Given the description of an element on the screen output the (x, y) to click on. 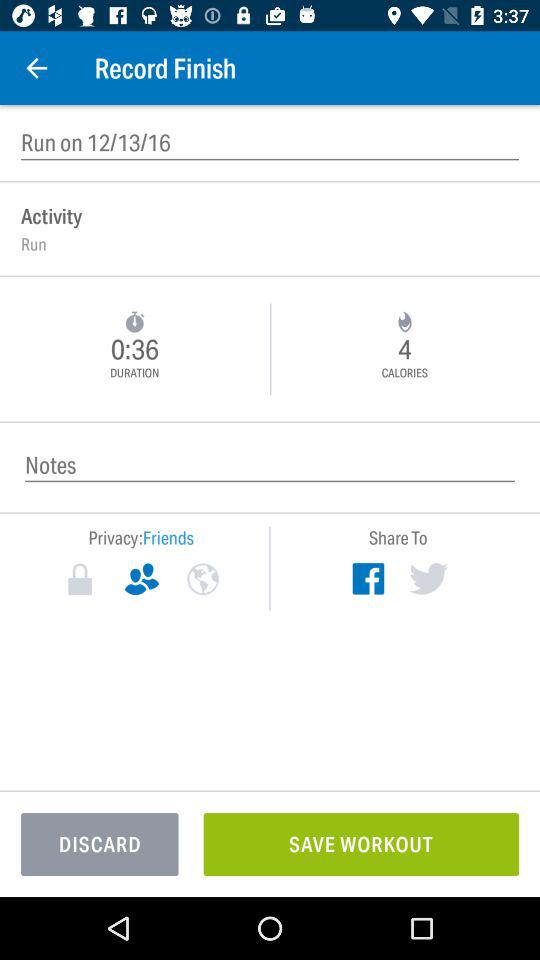
open facebook page (368, 578)
